Given the description of an element on the screen output the (x, y) to click on. 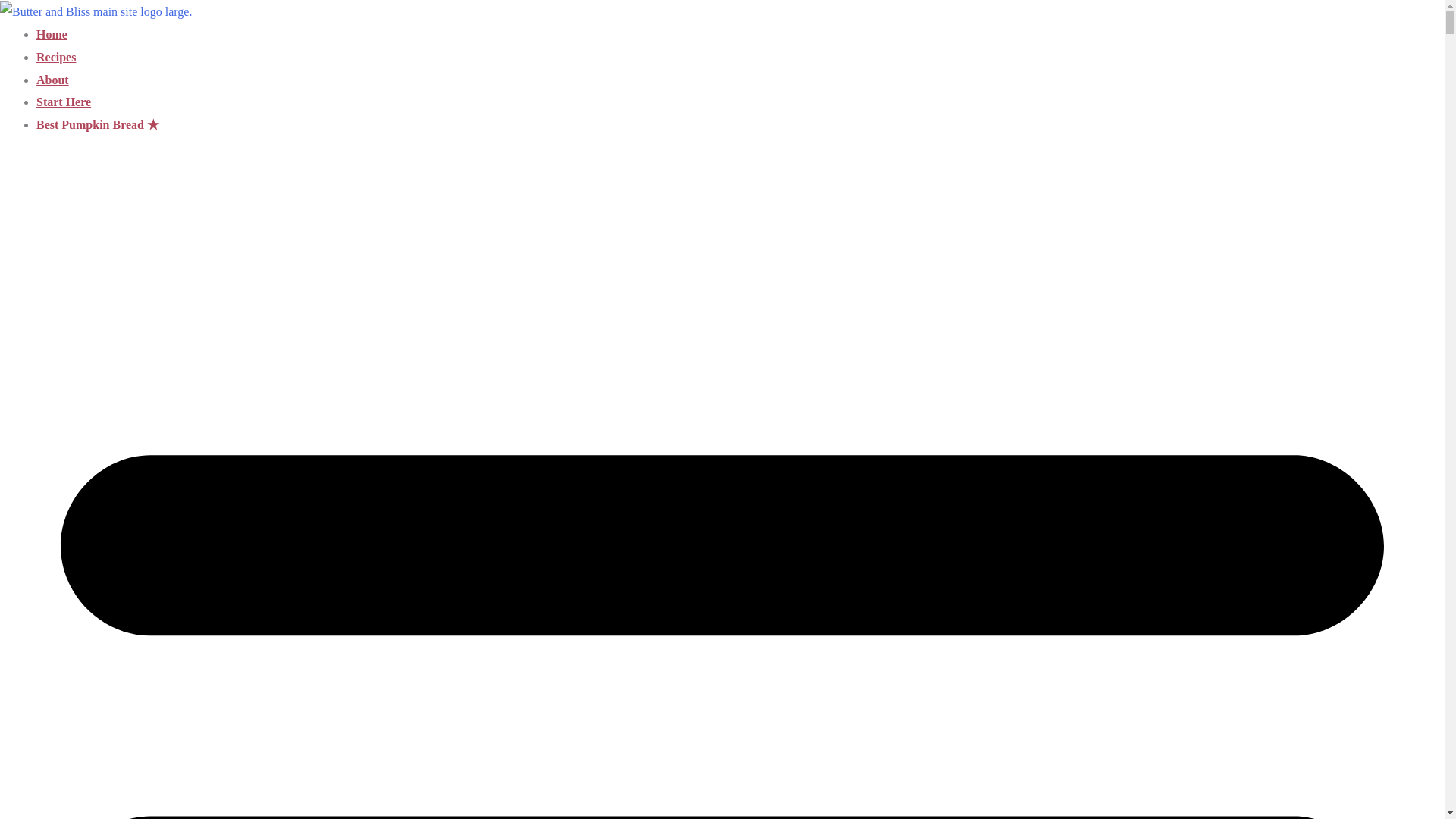
Recipes (55, 56)
Start Here (63, 101)
About (52, 79)
Home (51, 33)
